Given the description of an element on the screen output the (x, y) to click on. 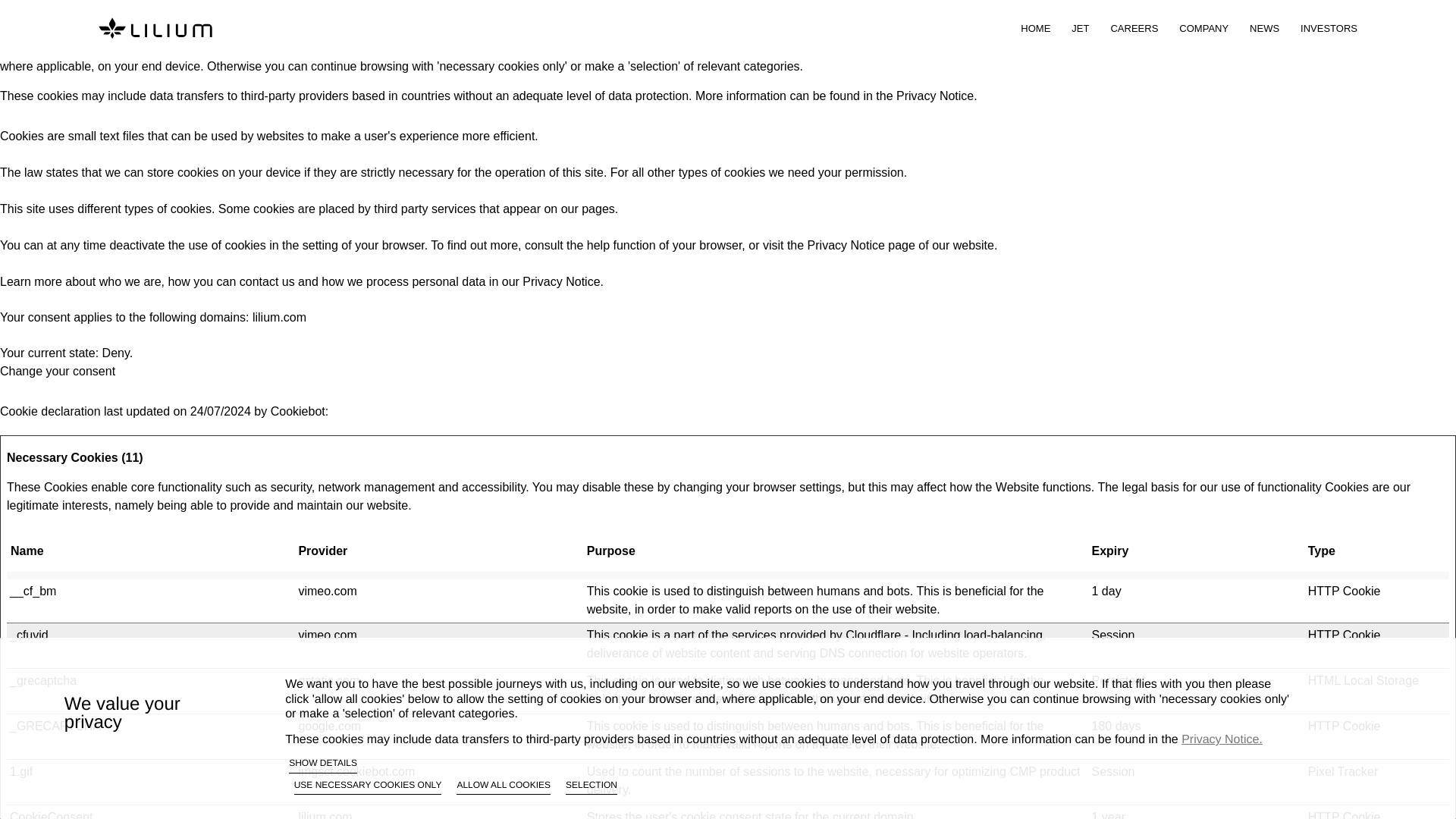
USE NECESSARY COOKIES ONLY (368, 786)
ALLOW ALL COOKIES (503, 786)
Privacy Notice (846, 245)
SELECTION (591, 786)
Privacy Notice. (936, 95)
Privacy Notice. (1221, 739)
Cookiebot (297, 410)
Cookiebot (297, 410)
Change your consent (57, 370)
Privacy Notice (560, 281)
SHOW DETAILS (322, 764)
